Given the description of an element on the screen output the (x, y) to click on. 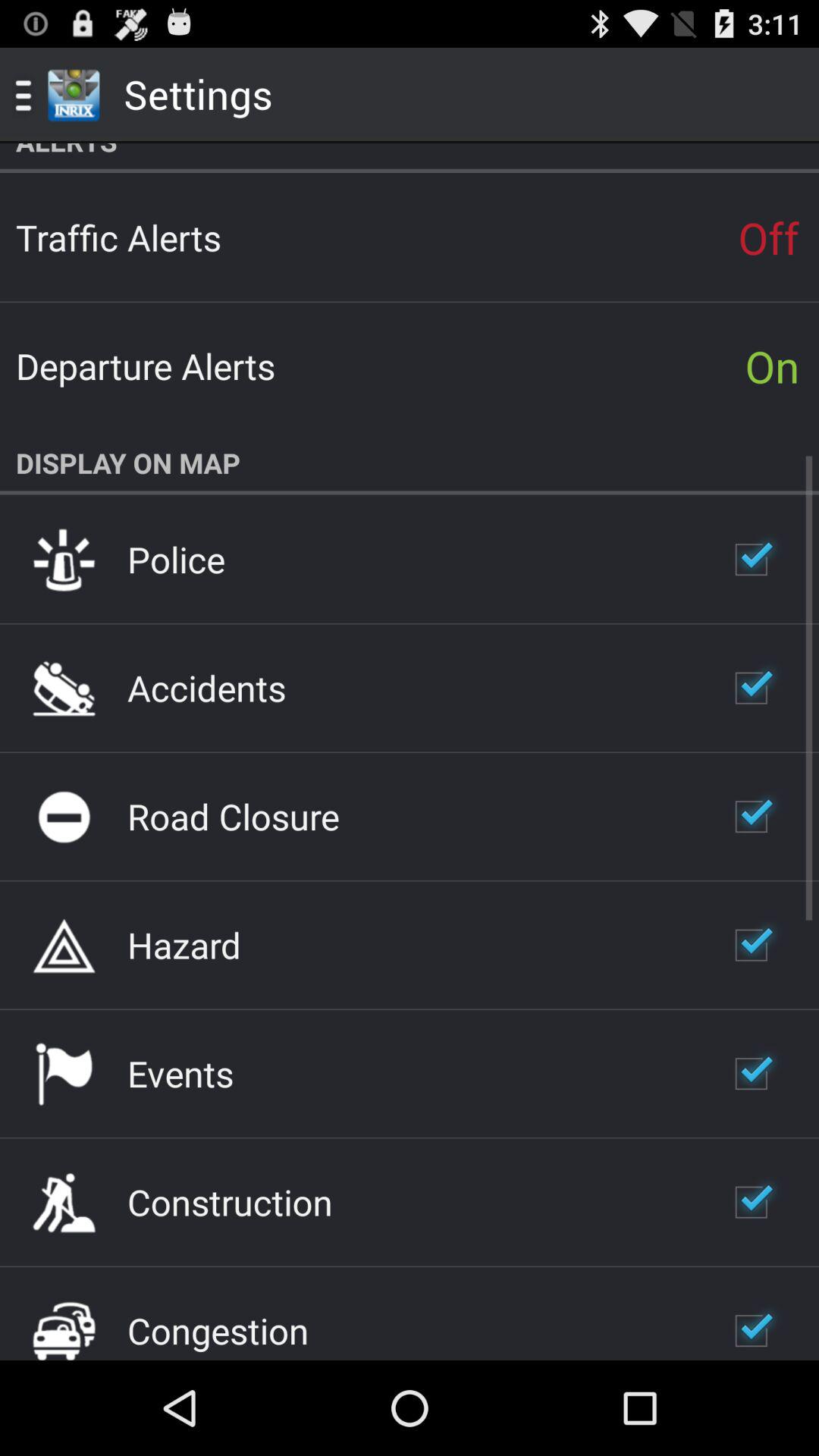
select the item next to on app (145, 365)
